Given the description of an element on the screen output the (x, y) to click on. 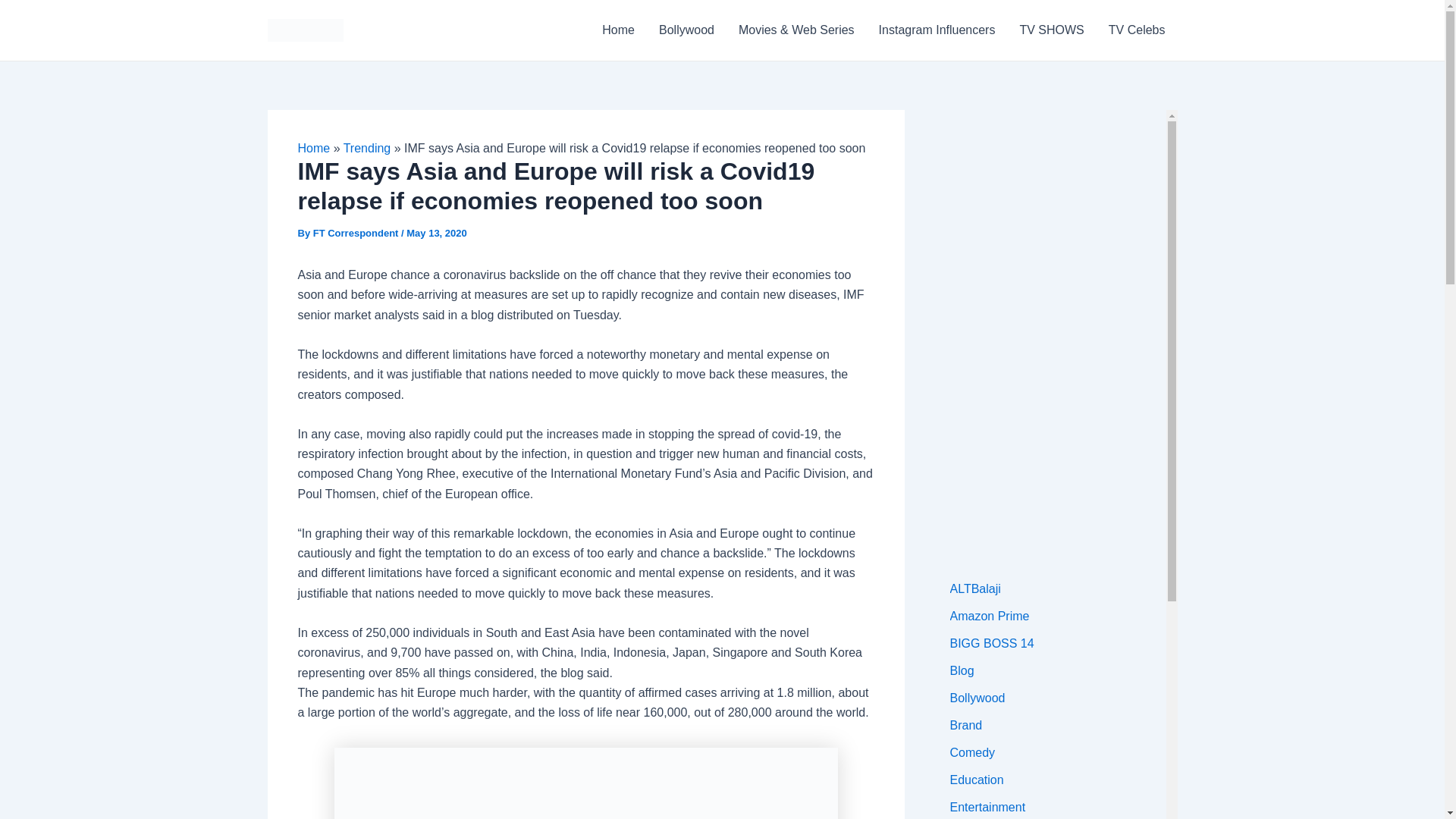
Home (313, 147)
View all posts by FT Correspondent (357, 233)
TV Celebs (1136, 30)
Instagram Influencers (936, 30)
Trending (367, 147)
Bollywood (686, 30)
TV SHOWS (1051, 30)
Home (617, 30)
FT Correspondent (357, 233)
